Given the description of an element on the screen output the (x, y) to click on. 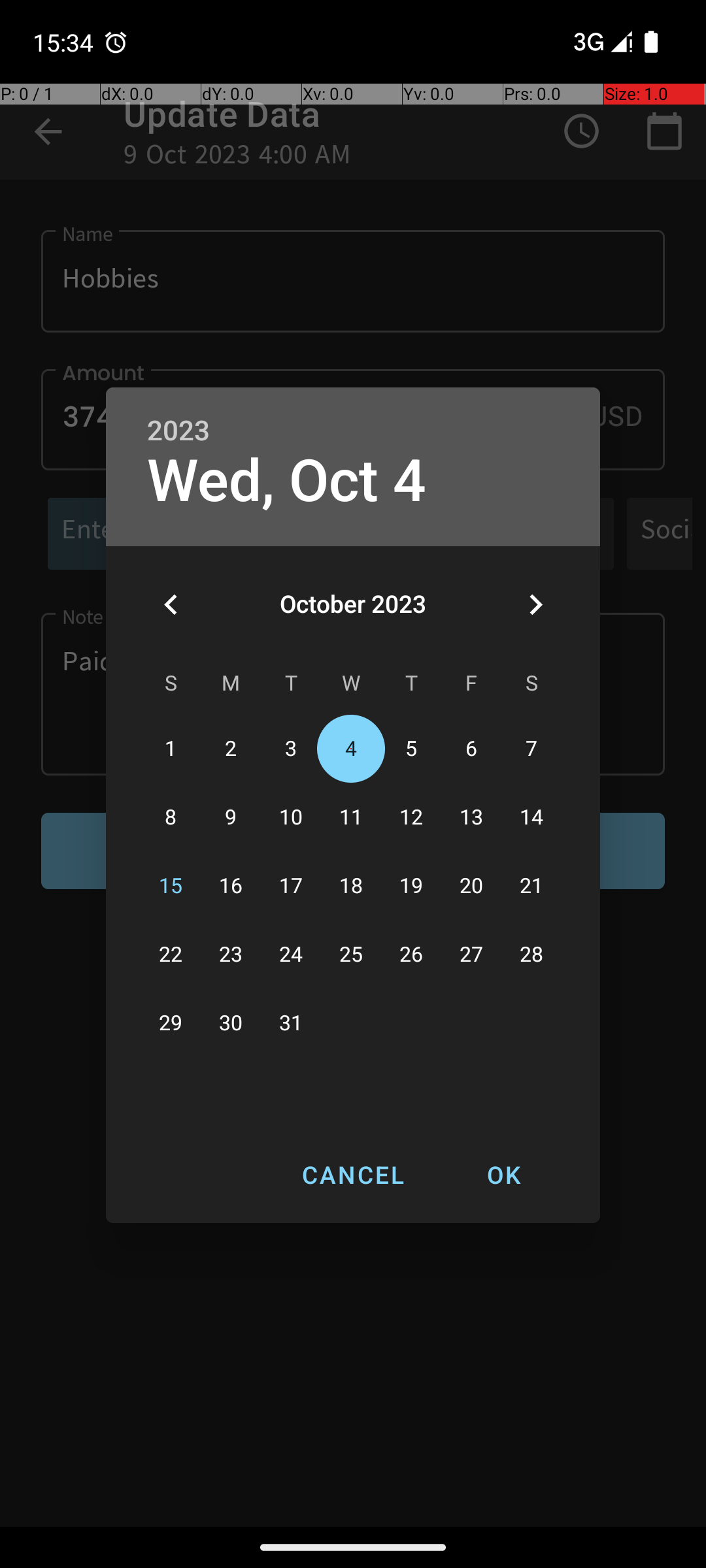
Wed, Oct 4 Element type: android.widget.TextView (286, 480)
